Given the description of an element on the screen output the (x, y) to click on. 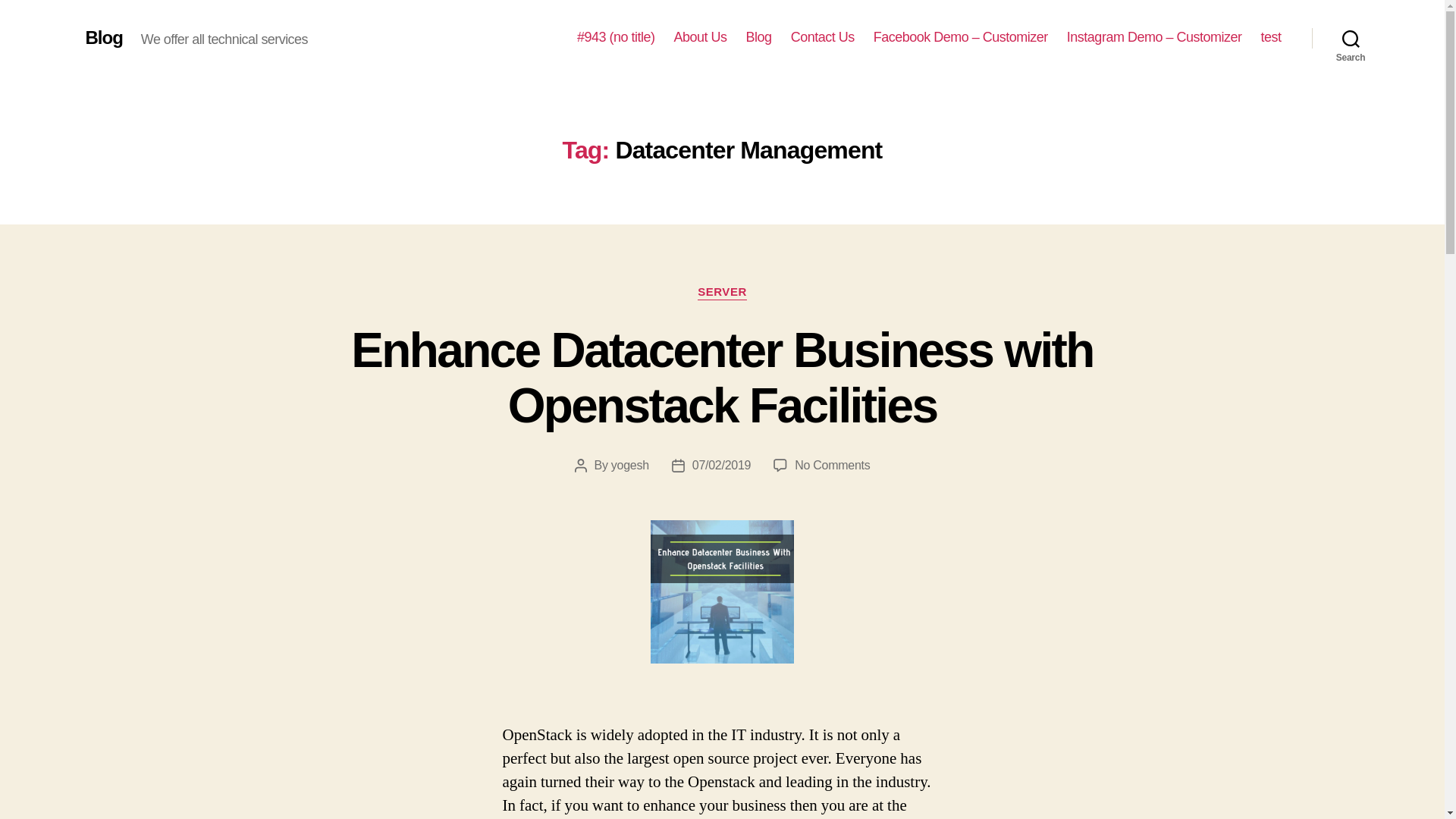
test (1270, 37)
SERVER (721, 292)
Blog (758, 37)
Blog (103, 37)
yogesh (630, 464)
Enhance Datacenter Business with Openstack Facilities (721, 377)
Contact Us (822, 37)
About Us (700, 37)
Search (1350, 37)
